Given the description of an element on the screen output the (x, y) to click on. 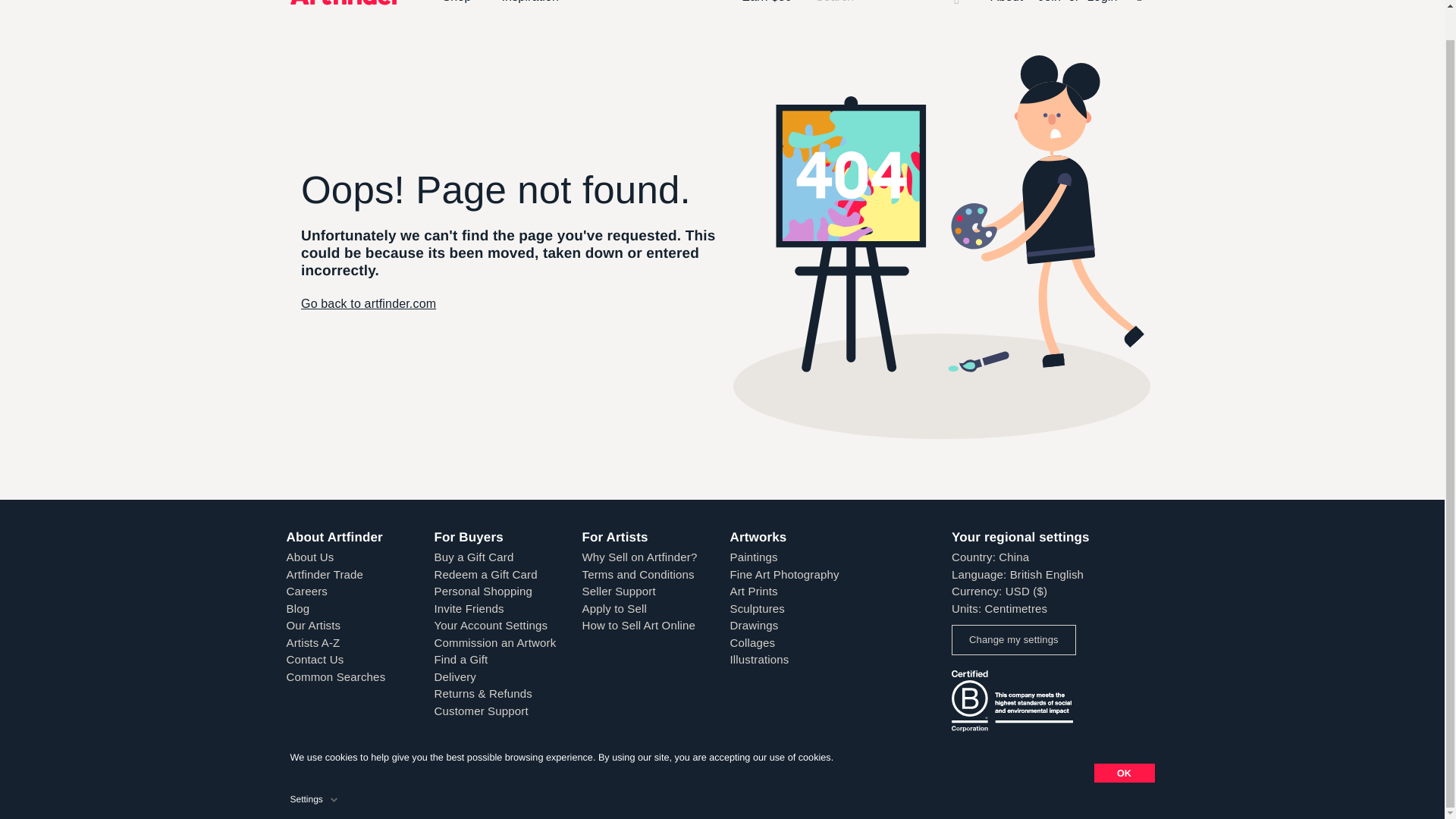
Settings (314, 765)
OK (1123, 741)
